Given the description of an element on the screen output the (x, y) to click on. 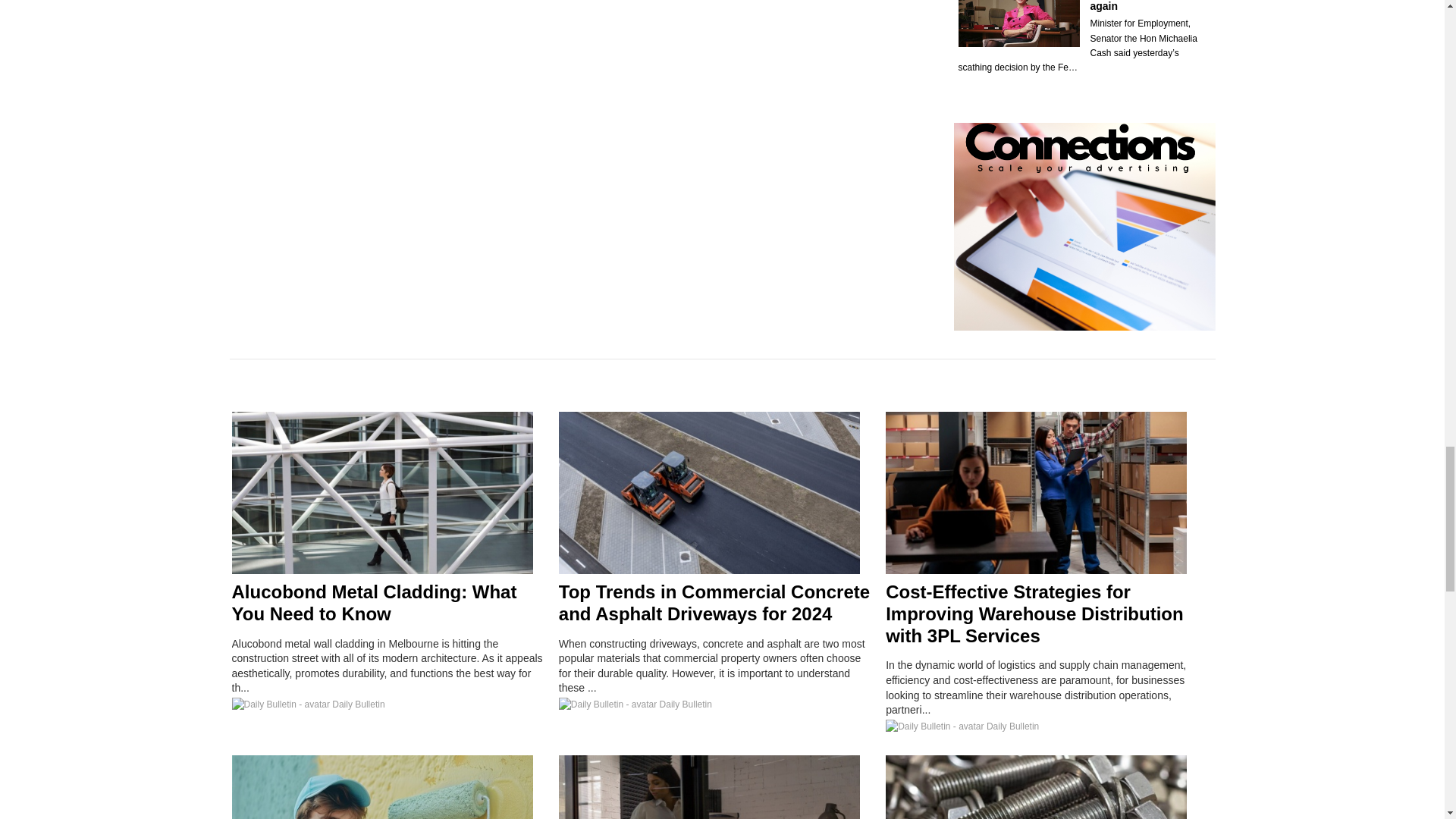
CFMEU Construction Division fined once again (1143, 6)
Alucobond Metal Cladding: What You Need to Know (373, 602)
